Given the description of an element on the screen output the (x, y) to click on. 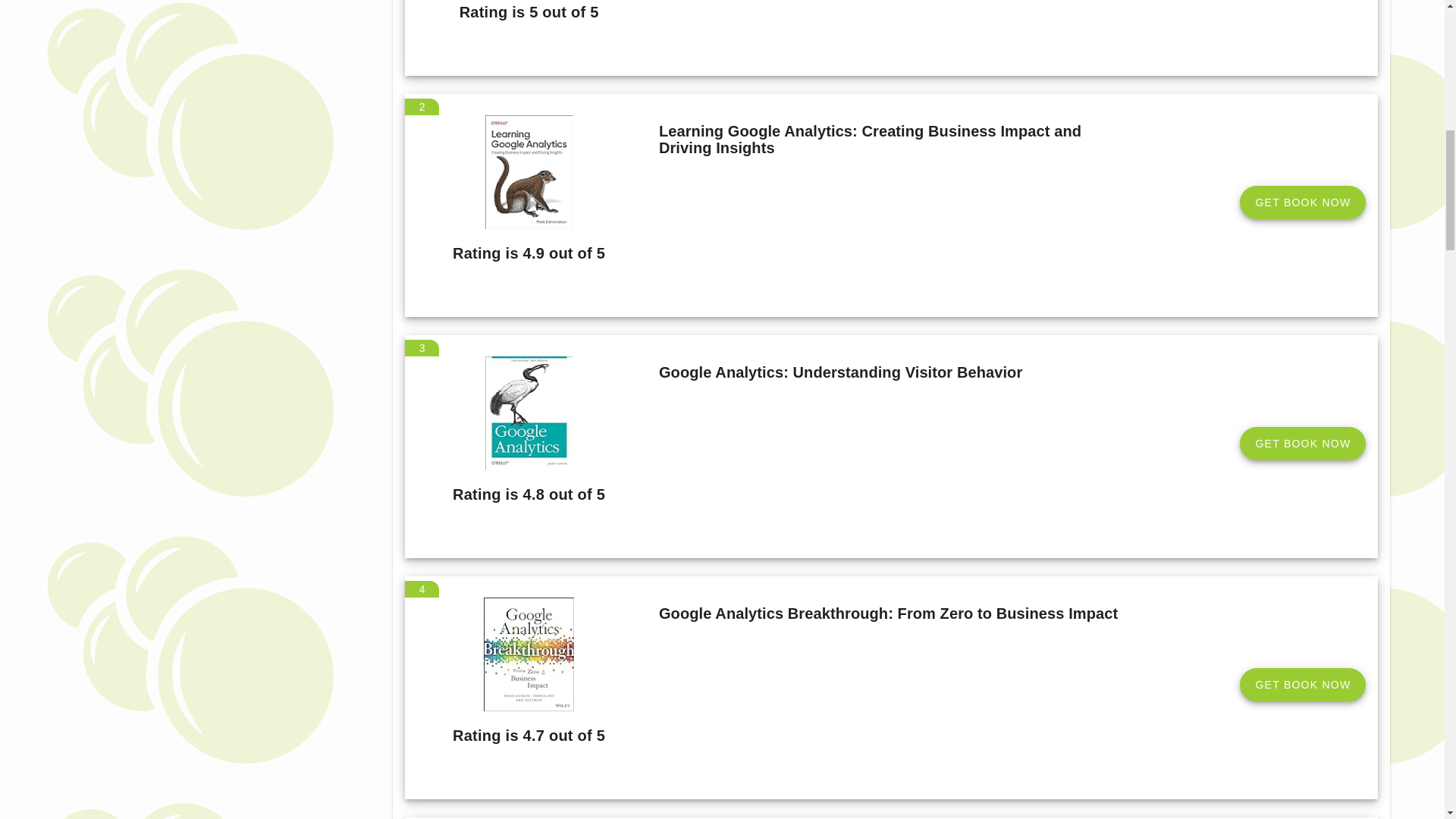
GET BOOK NOW (1302, 202)
GET BOOK NOW (1302, 684)
GET BOOK NOW (1302, 443)
